Given the description of an element on the screen output the (x, y) to click on. 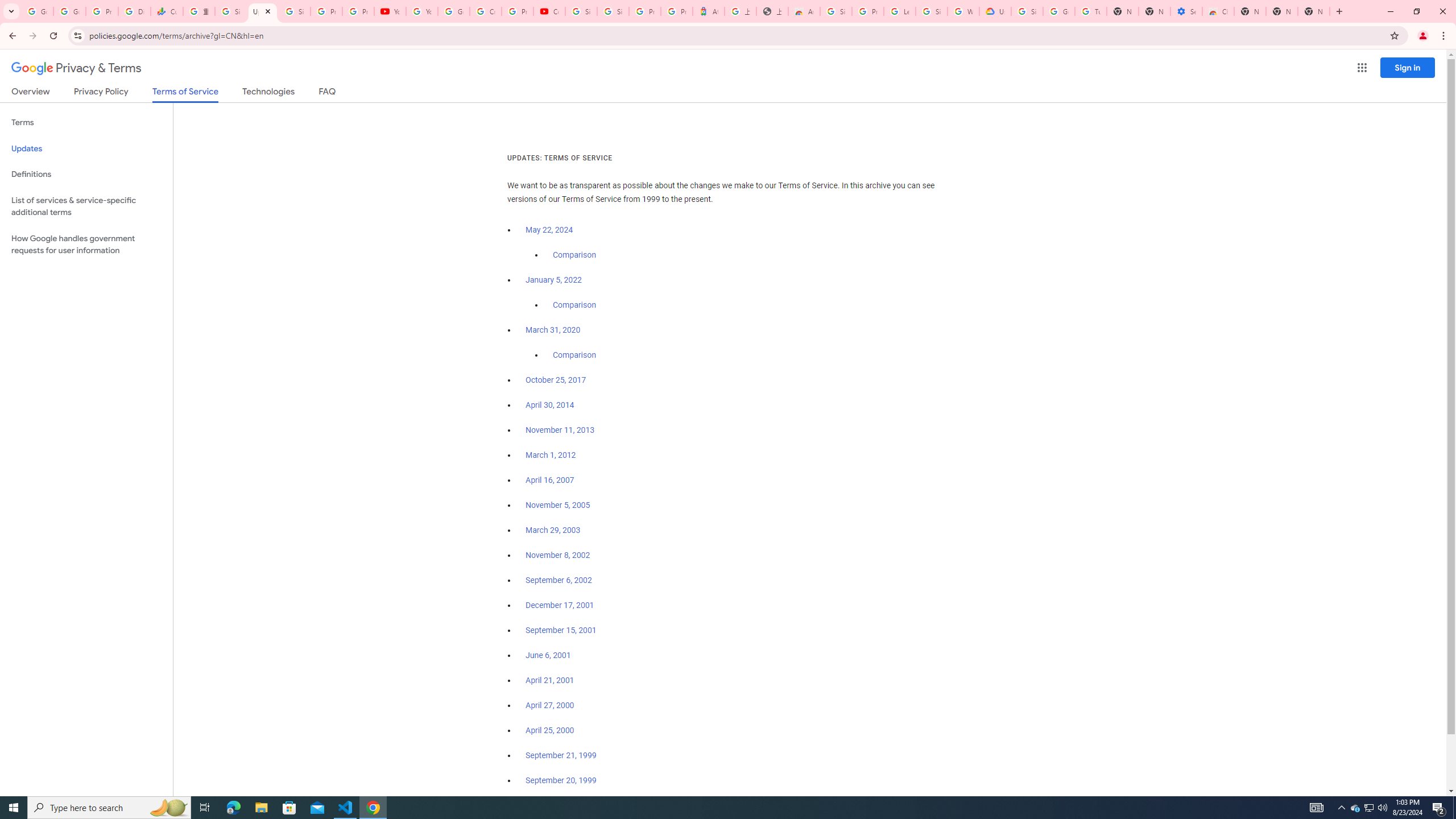
June 6, 2001 (547, 655)
Definitions (86, 174)
September 15, 2001 (560, 629)
Sign in - Google Accounts (581, 11)
Sign in - Google Accounts (294, 11)
Google Account Help (1059, 11)
November 5, 2005 (557, 505)
Settings - Accessibility (1185, 11)
Chrome Web Store - Accessibility extensions (1217, 11)
